Given the description of an element on the screen output the (x, y) to click on. 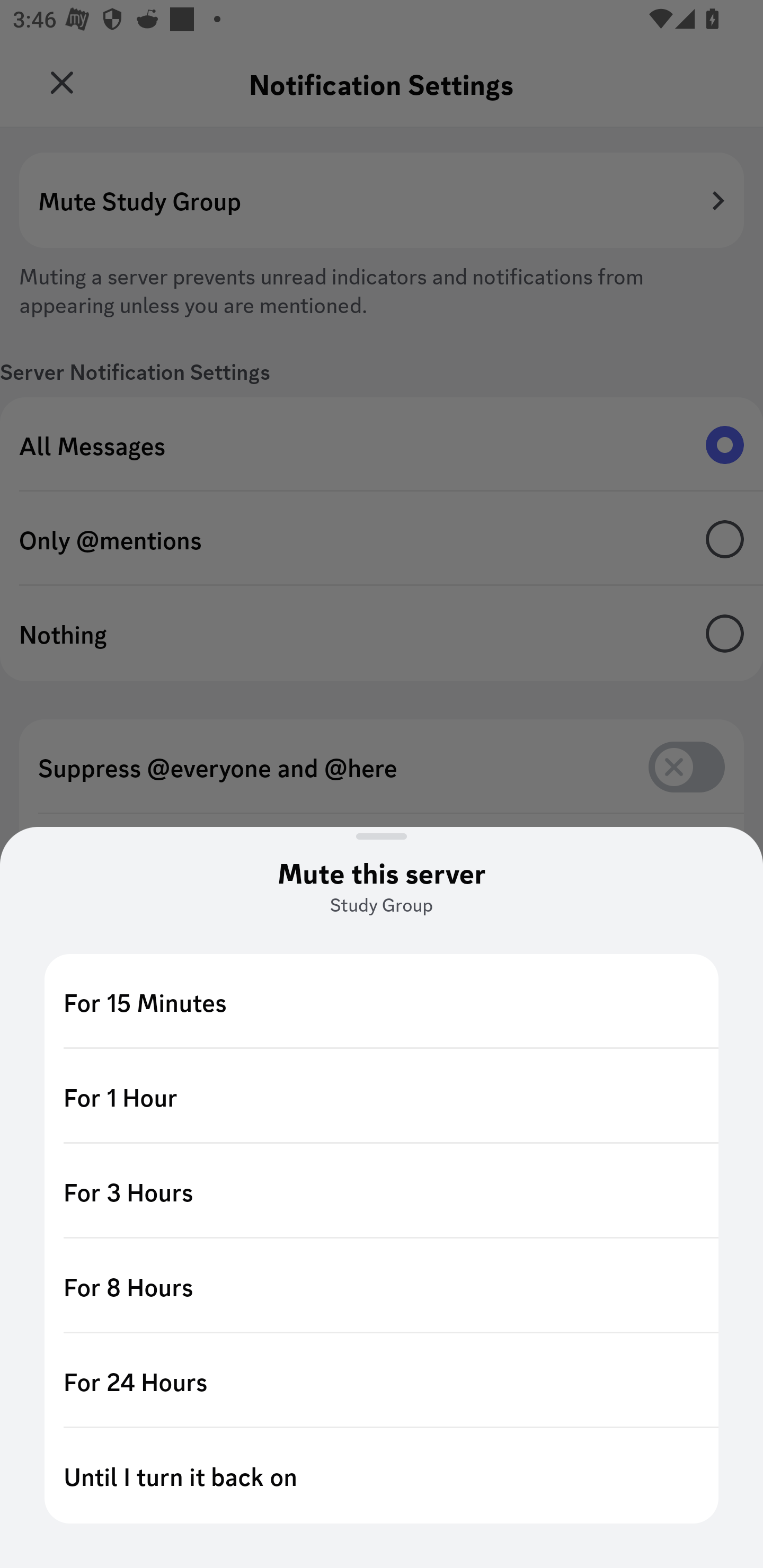
For 15 Minutes (381, 1000)
For 1 Hour (381, 1096)
For 3 Hours (381, 1190)
For 8 Hours (381, 1286)
For 24 Hours (381, 1380)
Until I turn it back on (381, 1476)
